Given the description of an element on the screen output the (x, y) to click on. 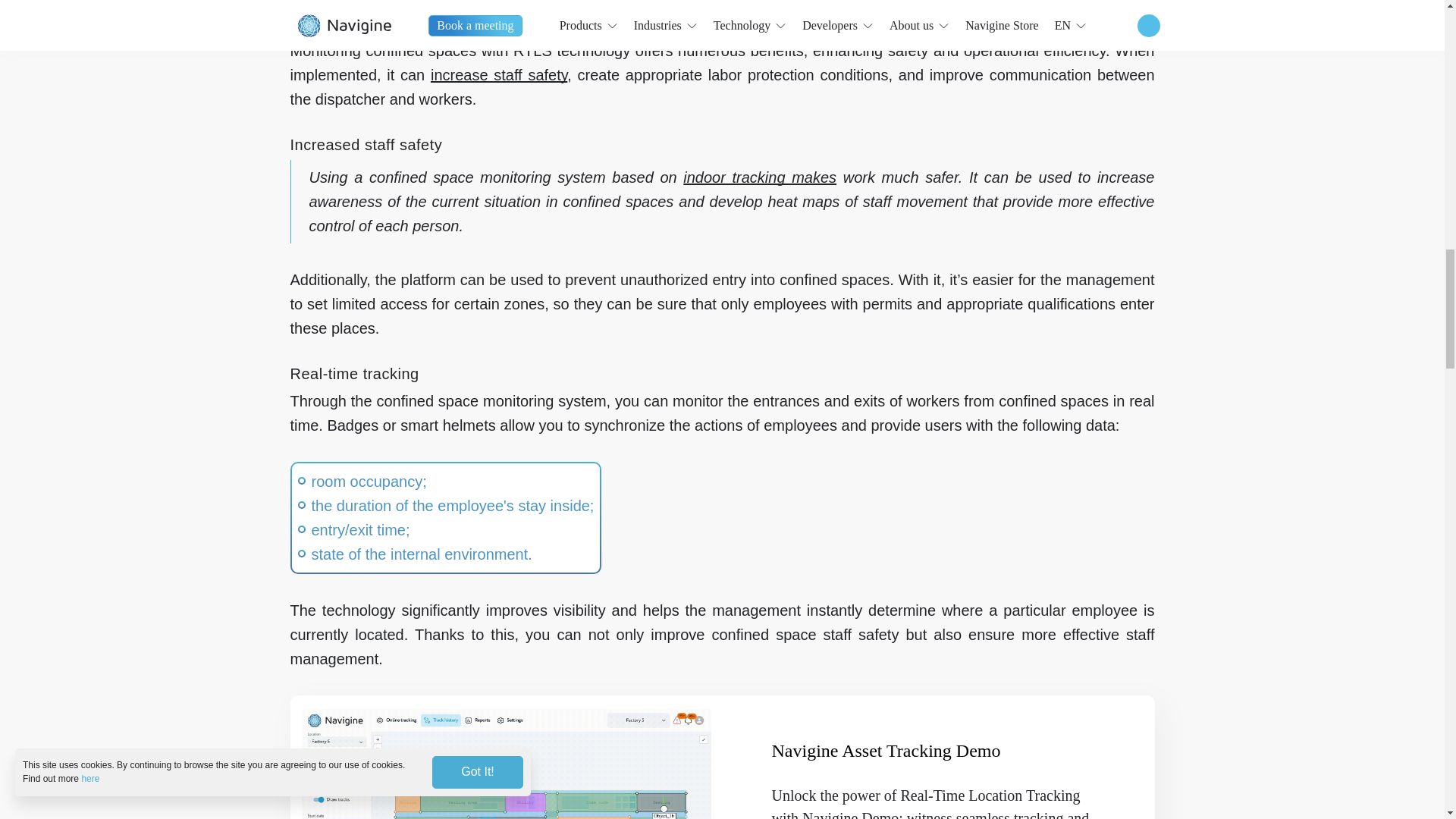
Navigine tracking platform (758, 176)
manufacturing health and safety software (498, 74)
